Given the description of an element on the screen output the (x, y) to click on. 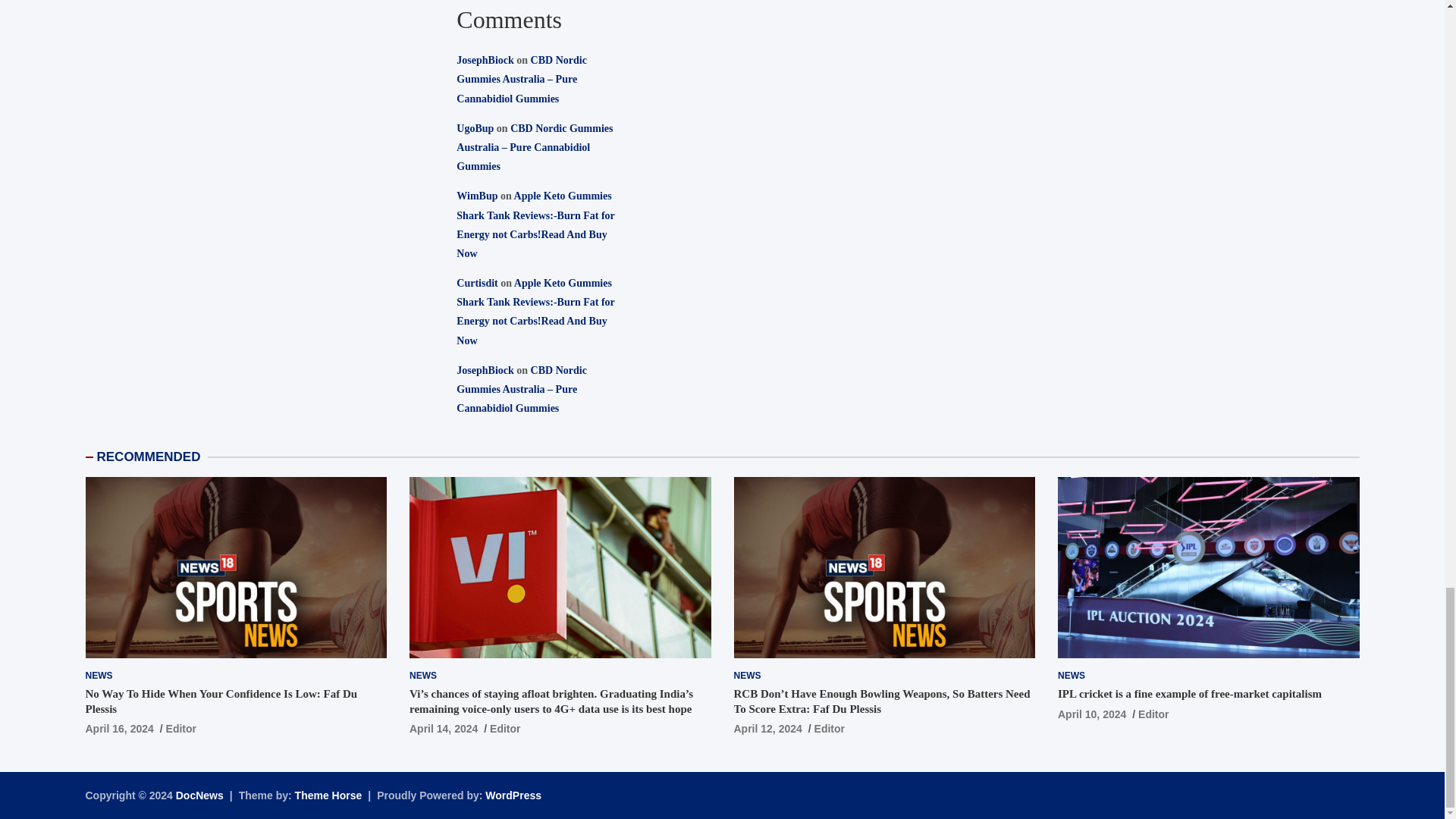
No Way To Hide When Your Confidence Is Low: Faf Du Plessis (118, 728)
UgoBup (475, 128)
WordPress (512, 795)
DocNews (200, 795)
Curtisdit (477, 283)
JosephBiock (485, 60)
Theme Horse (328, 795)
IPL cricket is a fine example of free-market capitalism (1091, 714)
WimBup (477, 195)
